Given the description of an element on the screen output the (x, y) to click on. 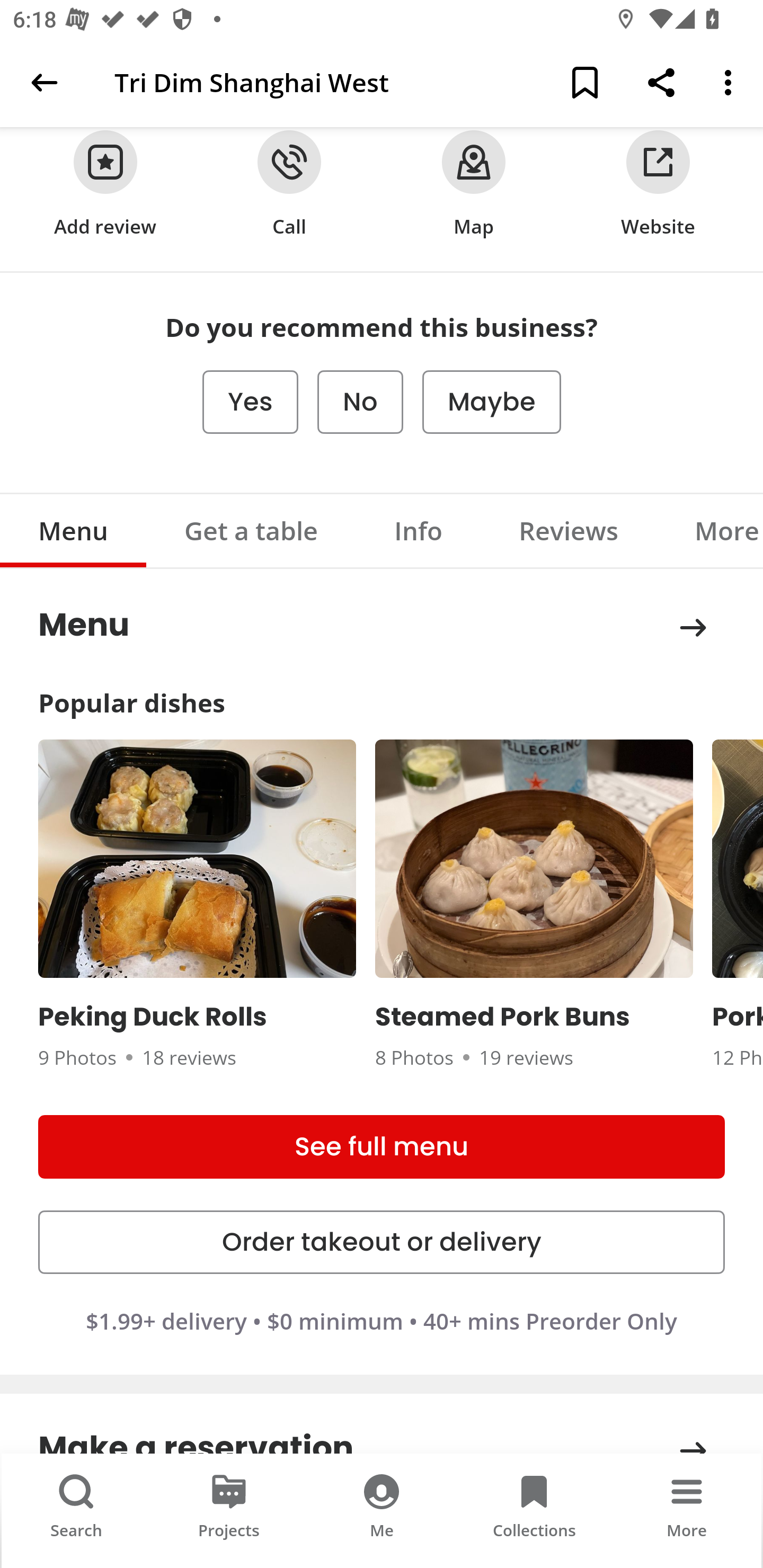
See full menu (381, 1146)
